Given the description of an element on the screen output the (x, y) to click on. 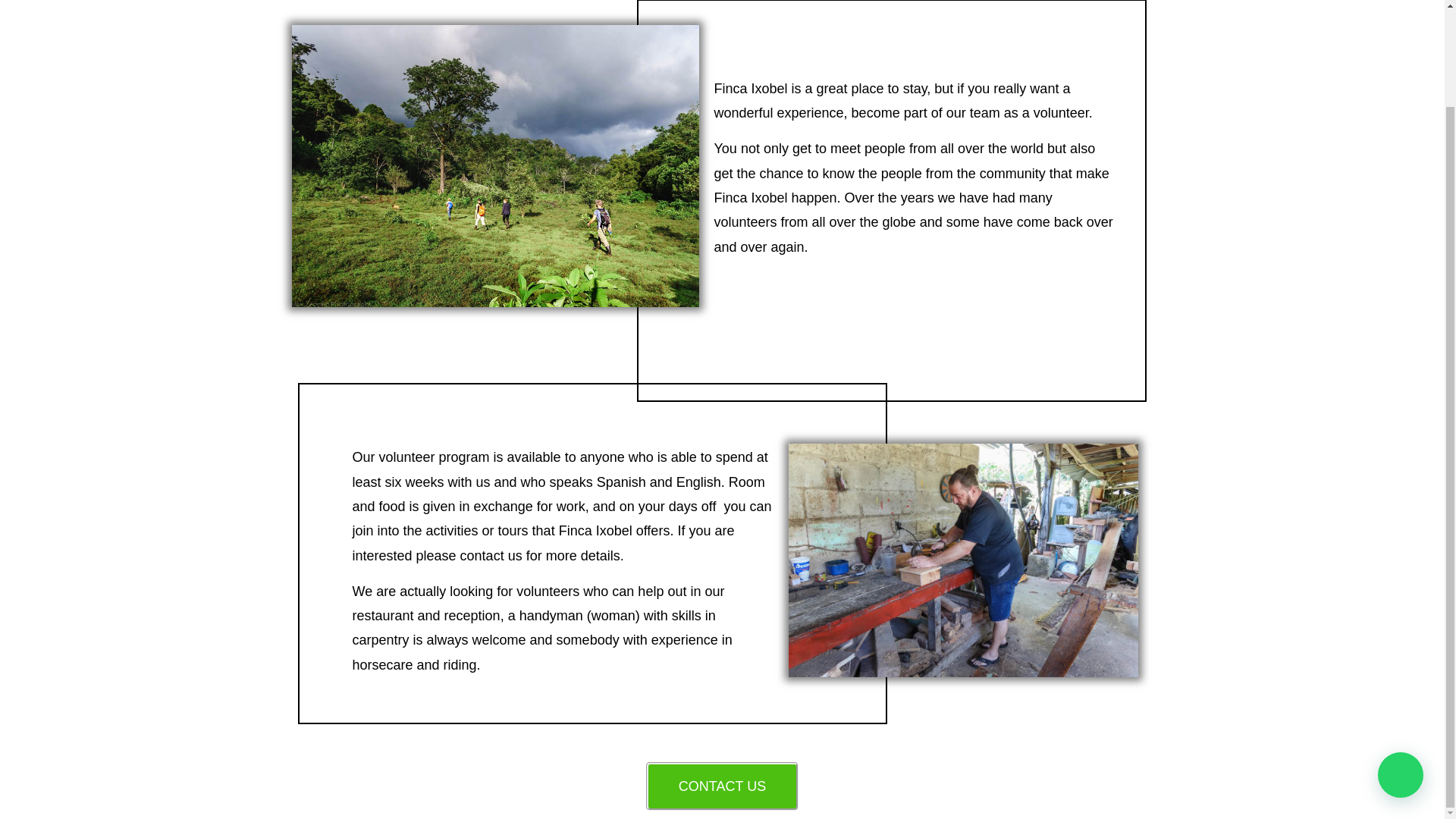
CONTACT US (721, 786)
